Given the description of an element on the screen output the (x, y) to click on. 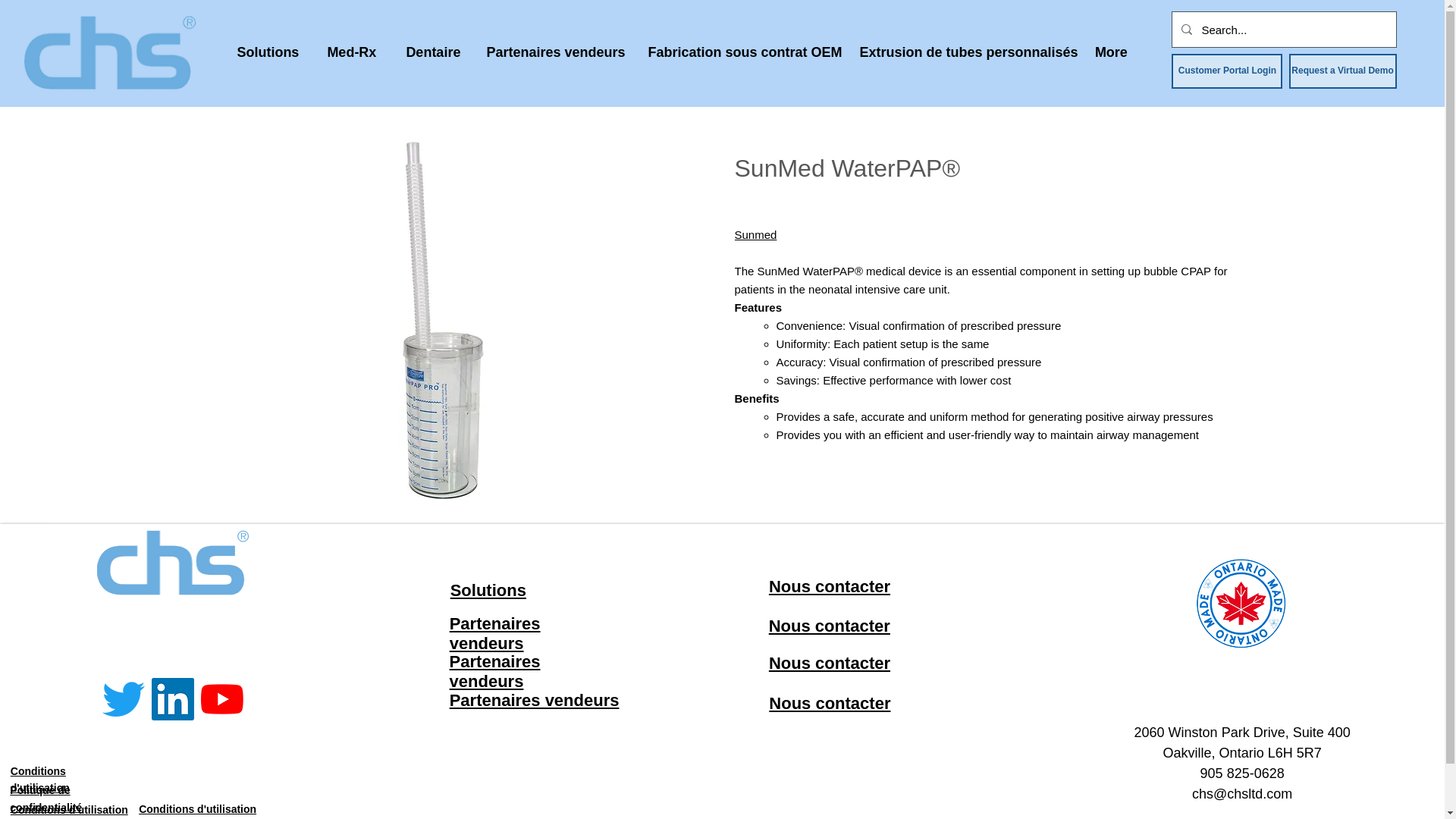
Dentaire (432, 52)
Solutions (267, 52)
Med-Rx (351, 52)
Partenaires vendeurs (555, 52)
Fabrication sous contrat OEM (741, 52)
